Given the description of an element on the screen output the (x, y) to click on. 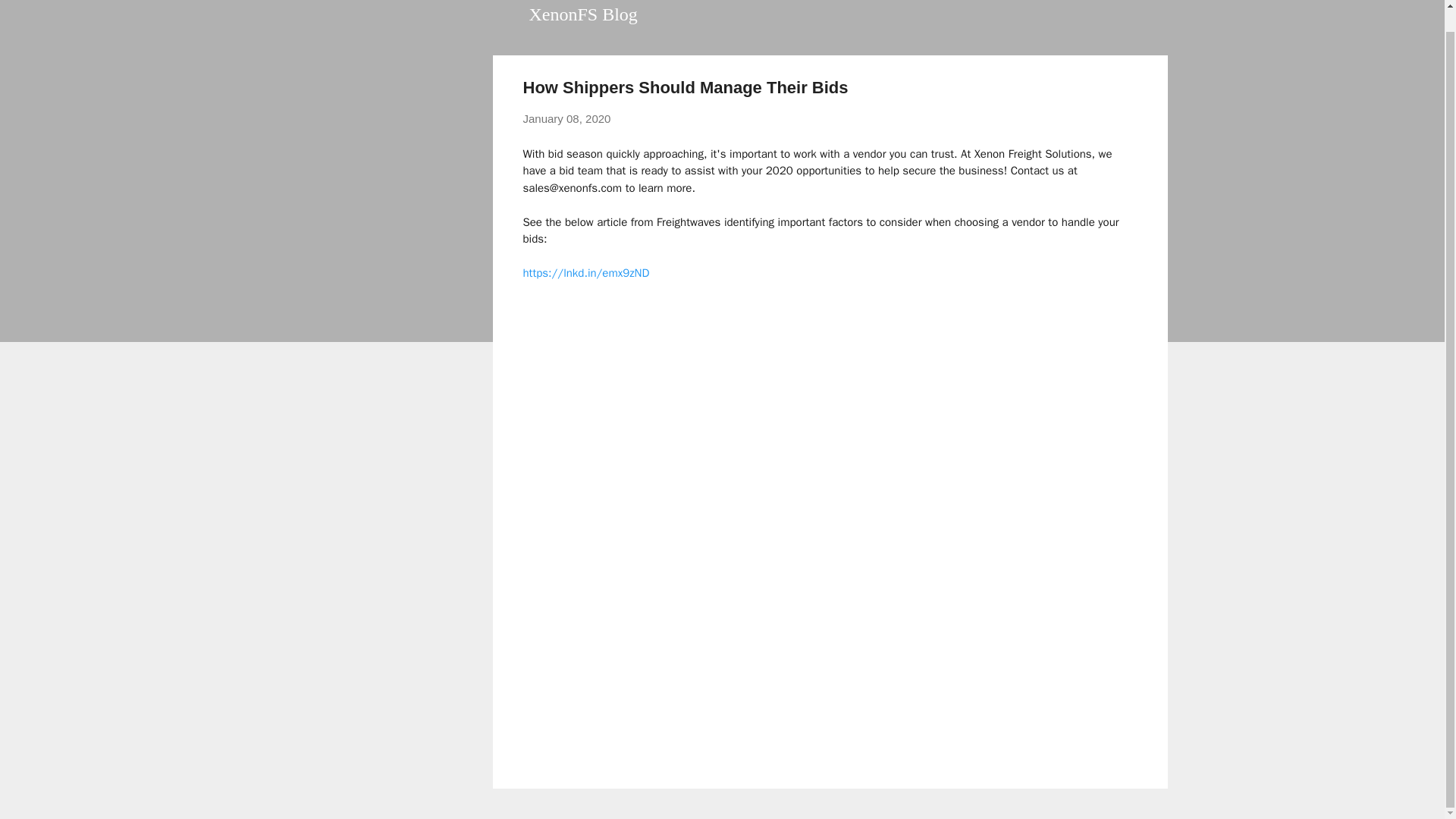
XenonFS Blog (583, 14)
January 08, 2020 (566, 118)
permanent link (566, 118)
Search (29, 7)
